Given the description of an element on the screen output the (x, y) to click on. 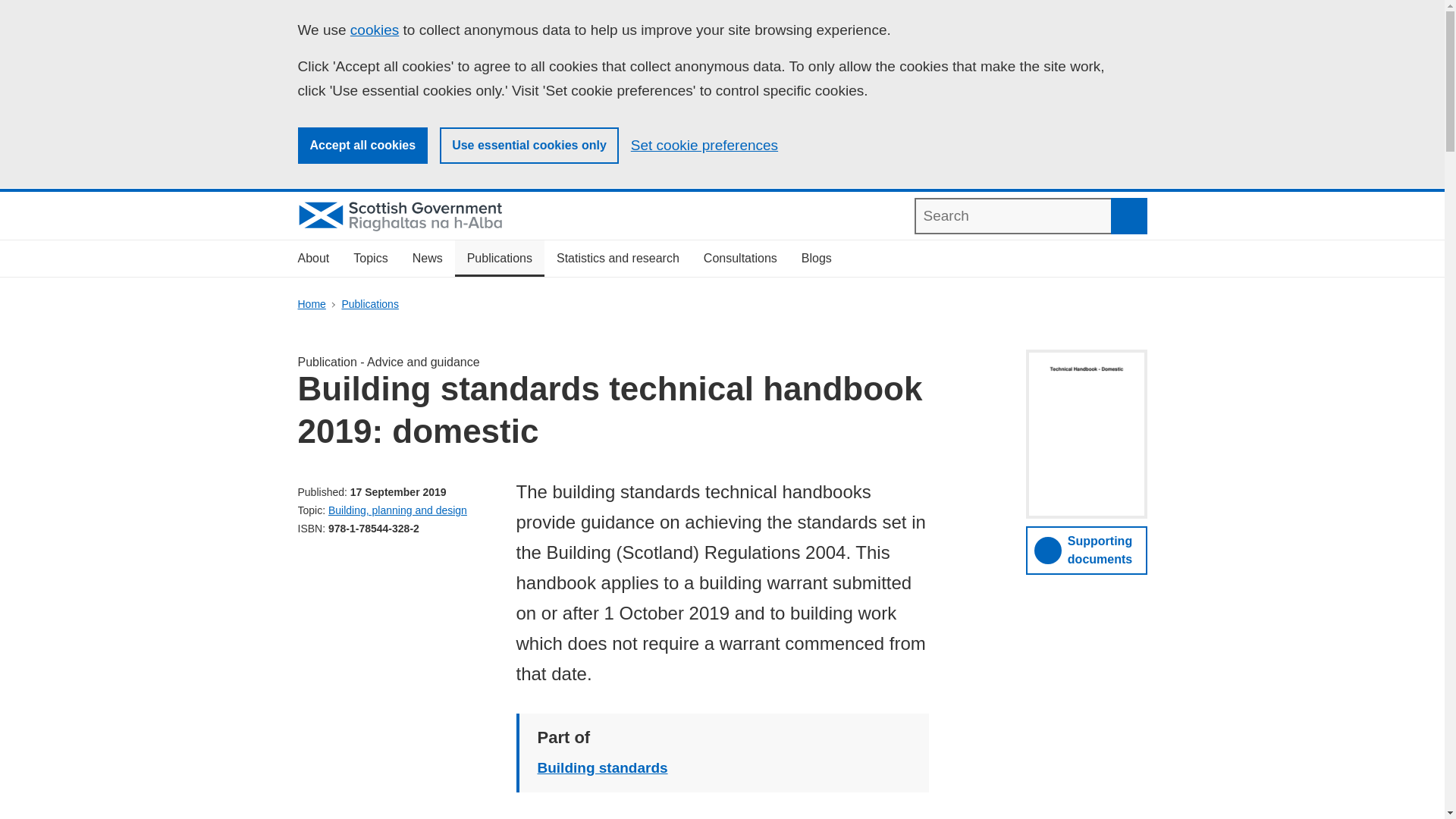
Supporting documents (1086, 550)
Publications (499, 258)
News (427, 258)
cookies (374, 29)
Set cookie preferences (703, 145)
Consultations (740, 258)
Publications (369, 304)
Topics (369, 258)
Statistics and research (617, 258)
Accept all cookies (362, 145)
About (312, 258)
Use essential cookies only (528, 145)
Blogs (816, 258)
Home (310, 304)
